Given the description of an element on the screen output the (x, y) to click on. 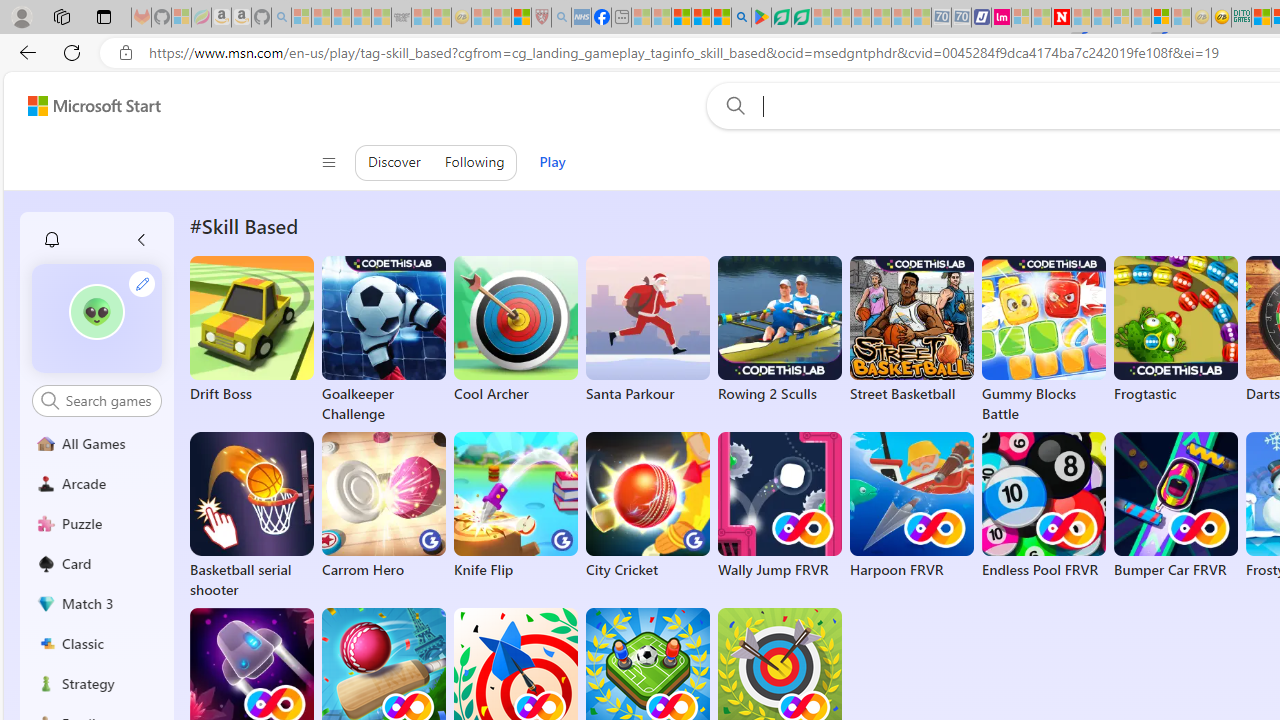
Rowing 2 Sculls (780, 329)
Terms of Use Agreement (781, 17)
Frogtastic (1175, 329)
Class: control icon-only (329, 162)
